Given the description of an element on the screen output the (x, y) to click on. 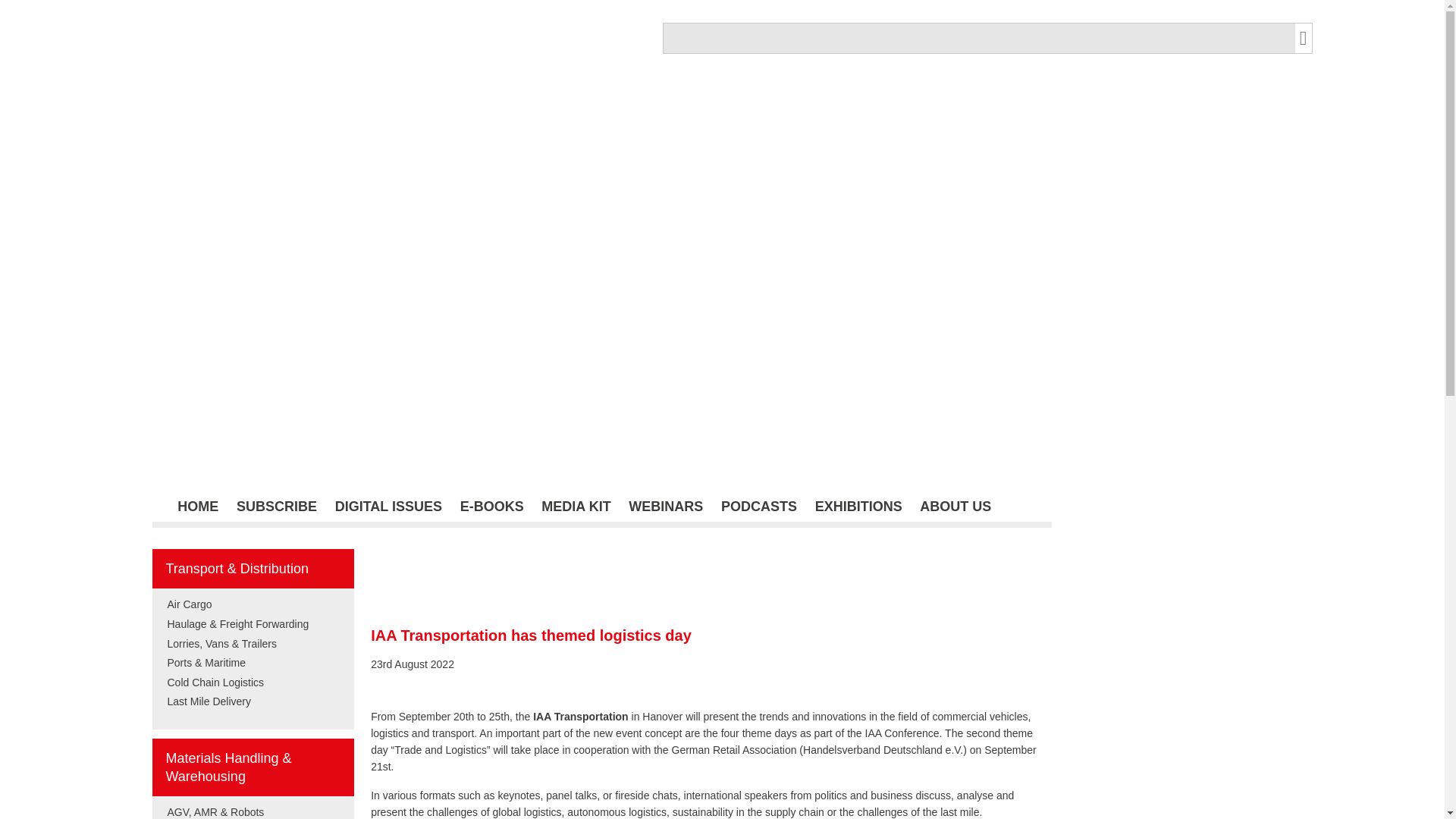
Search for: (978, 38)
